Given the description of an element on the screen output the (x, y) to click on. 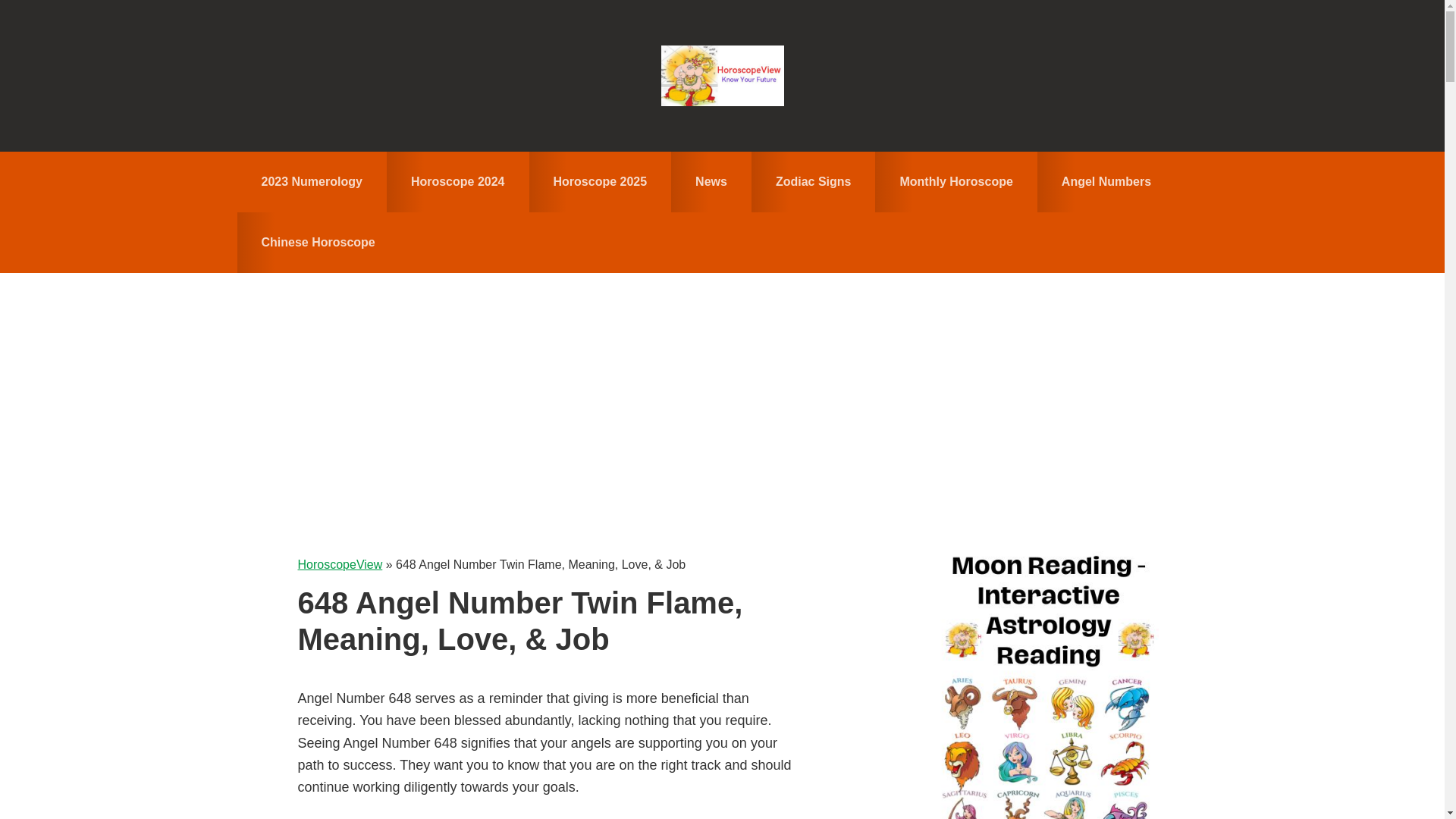
2023 Numerology (310, 181)
Horoscope 2024 (458, 181)
Angel Numbers (1105, 181)
HoroscopeView (722, 75)
Zodiac Signs (813, 181)
News (711, 181)
Chinese Horoscope (316, 242)
HoroscopeView (339, 563)
Horoscope 2025 (600, 181)
Monthly Horoscope (955, 181)
